Given the description of an element on the screen output the (x, y) to click on. 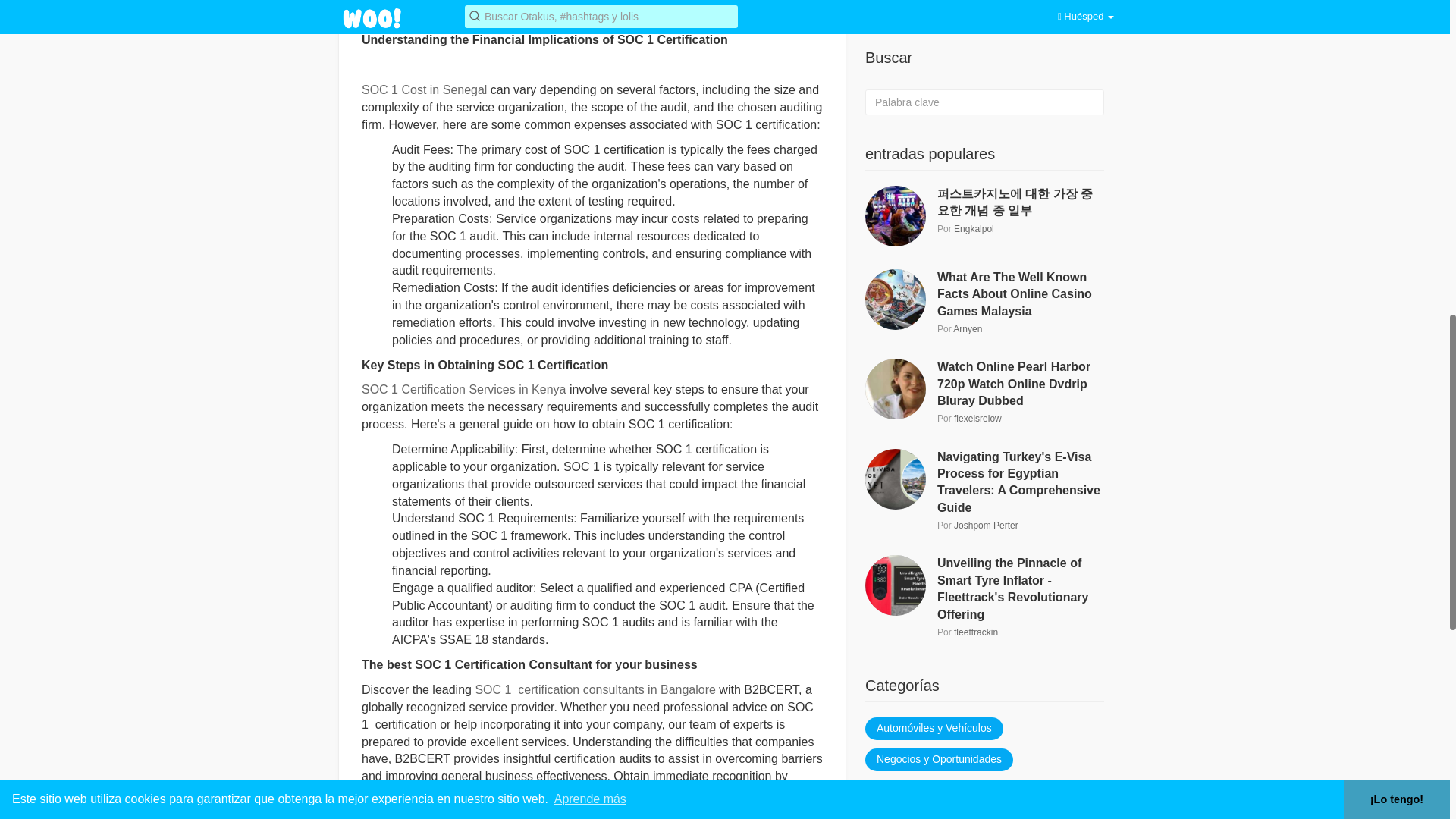
SOC 1 Certification Services in Kenya (463, 389)
SOC 1 Cost in Senegal (423, 89)
SOC 1  certification consultants in Bangalore (595, 689)
